Given the description of an element on the screen output the (x, y) to click on. 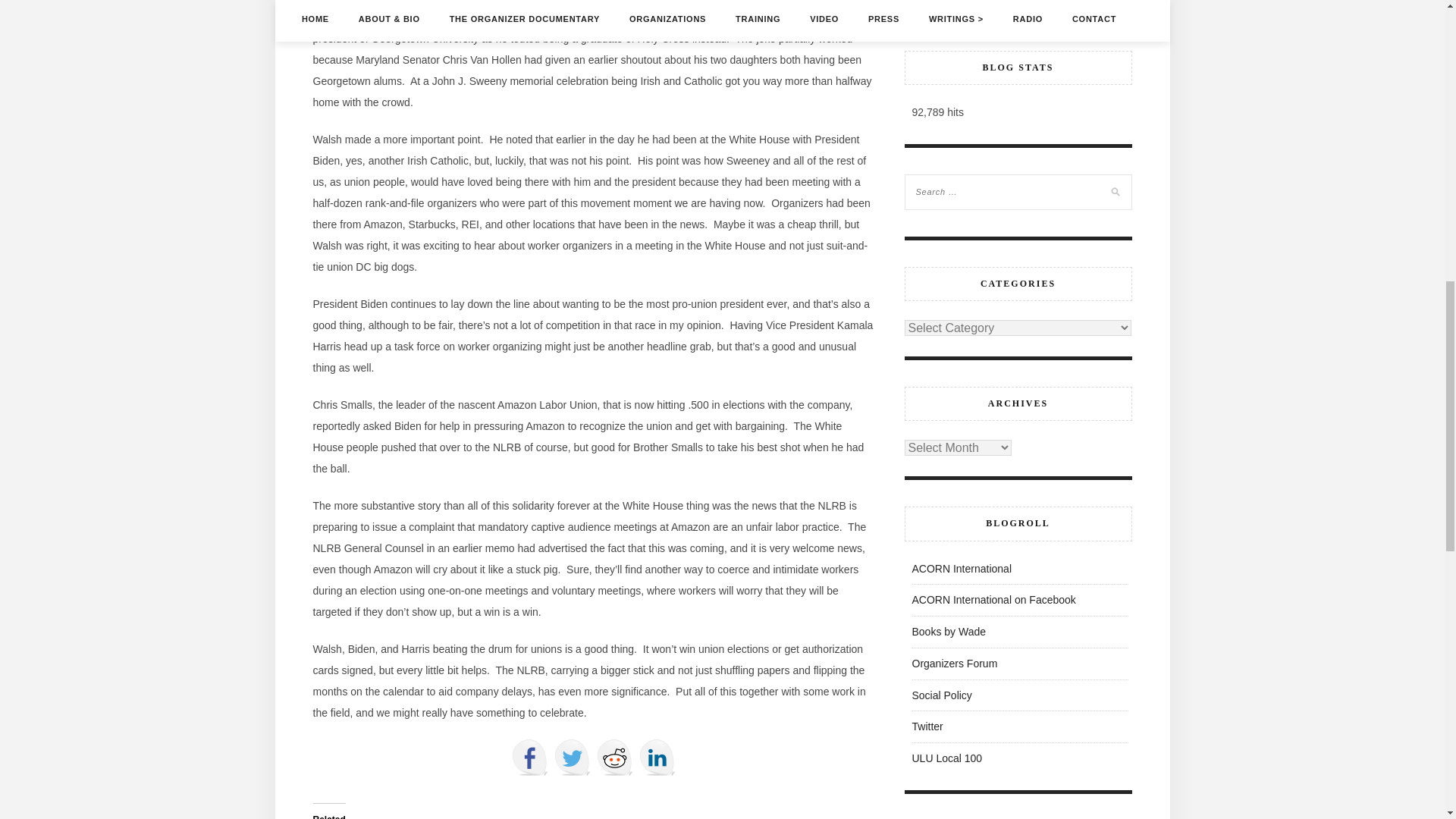
Share on Reddit (613, 757)
Share on LinkedIn (657, 757)
Share on Twitter (571, 757)
Share on Facebook (529, 757)
